Given the description of an element on the screen output the (x, y) to click on. 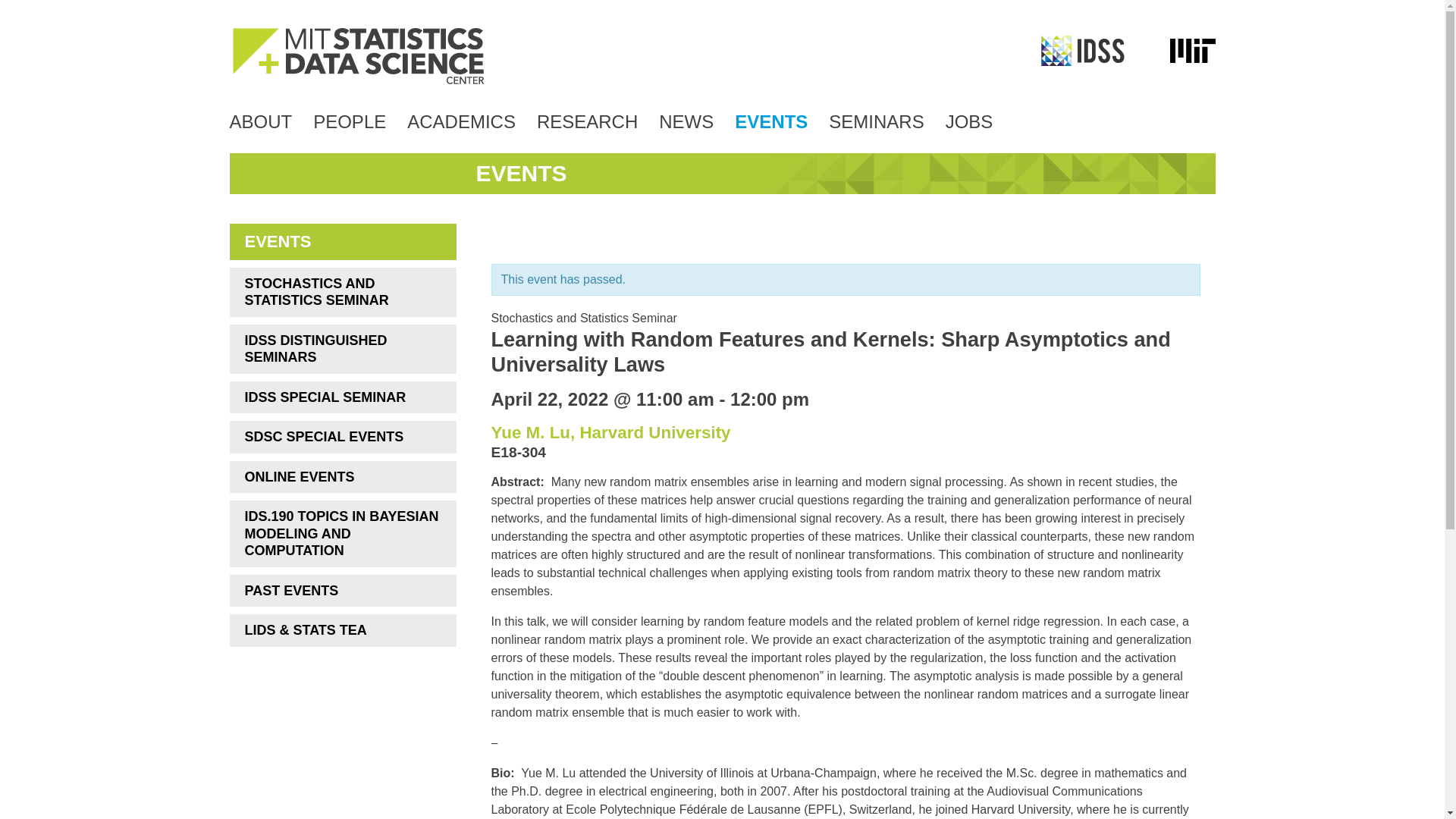
SDSC SPECIAL EVENTS (341, 436)
EVENTS (521, 172)
EVENTS (771, 121)
IDSS DISTINGUISHED SEMINARS (341, 348)
STOCHASTICS AND STATISTICS SEMINAR (341, 291)
EVENTS (341, 241)
IDS.190 TOPICS IN BAYESIAN MODELING AND COMPUTATION (341, 533)
RESEARCH (587, 121)
PEOPLE (349, 121)
ABOUT (260, 121)
